Given the description of an element on the screen output the (x, y) to click on. 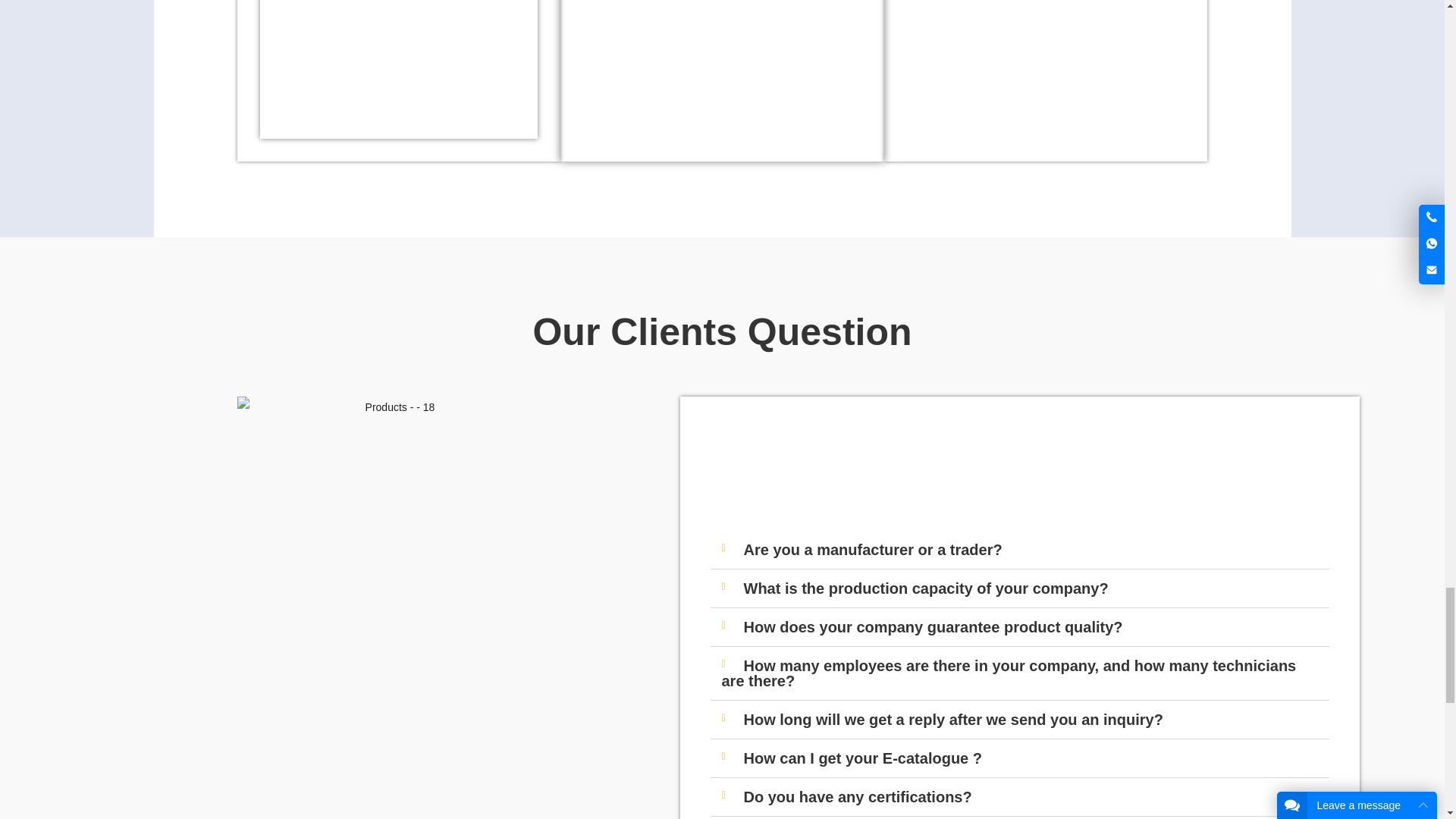
Are you a manufacturer or a trader? (871, 549)
What is the production capacity of your company? (925, 588)
